Given the description of an element on the screen output the (x, y) to click on. 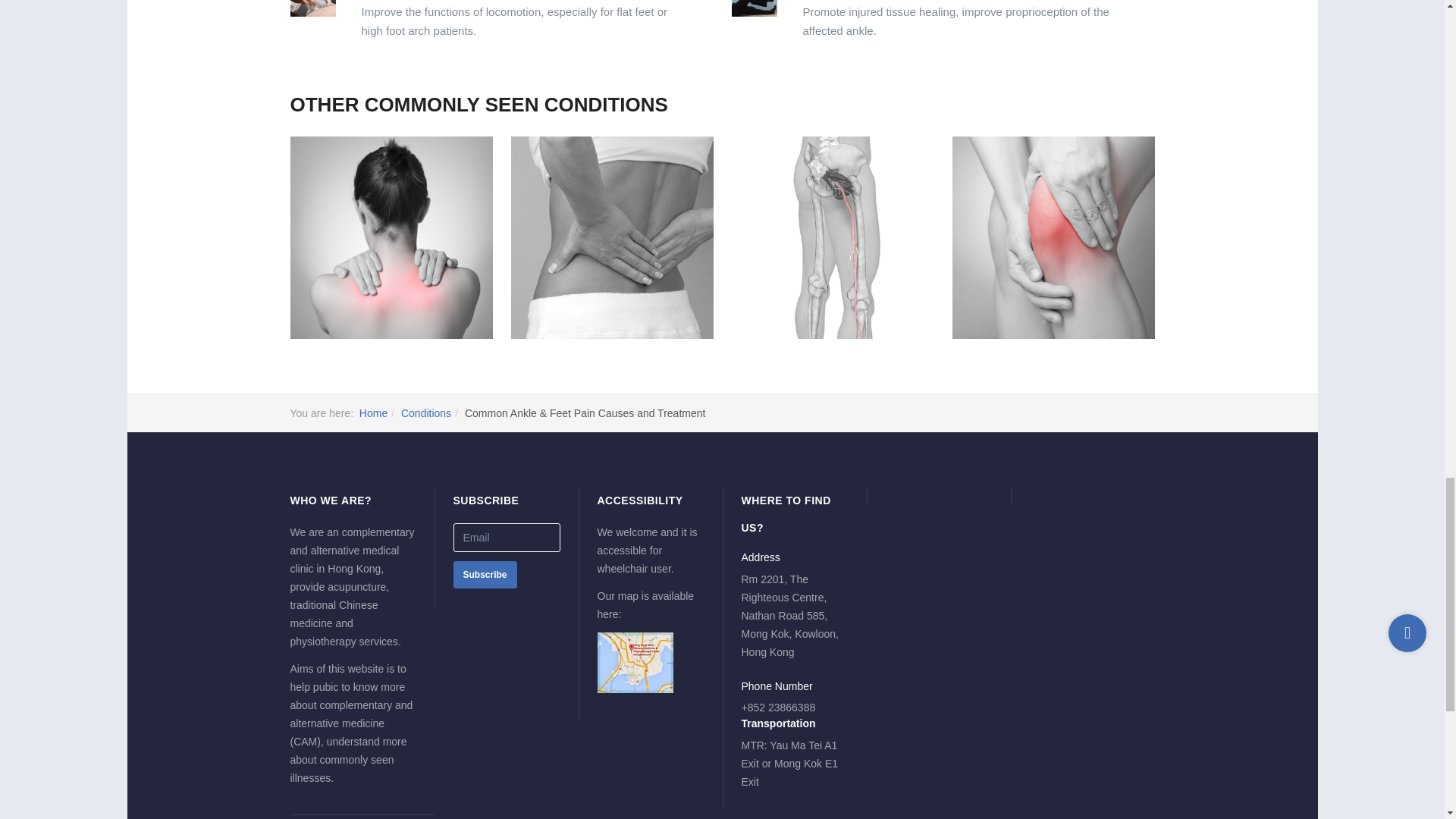
Back Pain Condition (612, 237)
Knee Pain Condition (1053, 237)
Subscribe (484, 574)
Neck Pain Condition (390, 237)
Sciatica (831, 237)
